Given the description of an element on the screen output the (x, y) to click on. 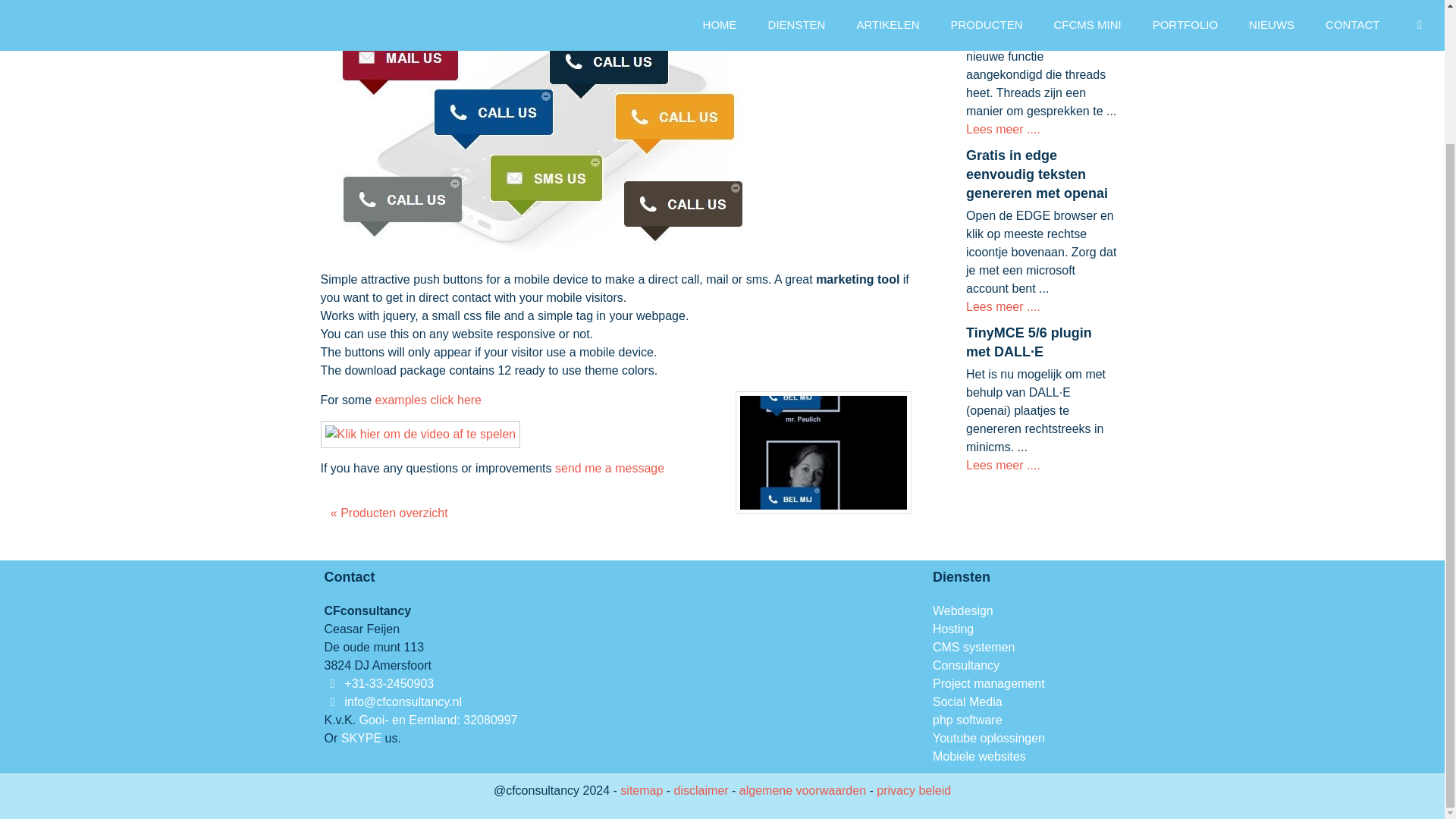
examples click here (428, 399)
Lees meer .... (1003, 128)
send me a message (608, 468)
